Given the description of an element on the screen output the (x, y) to click on. 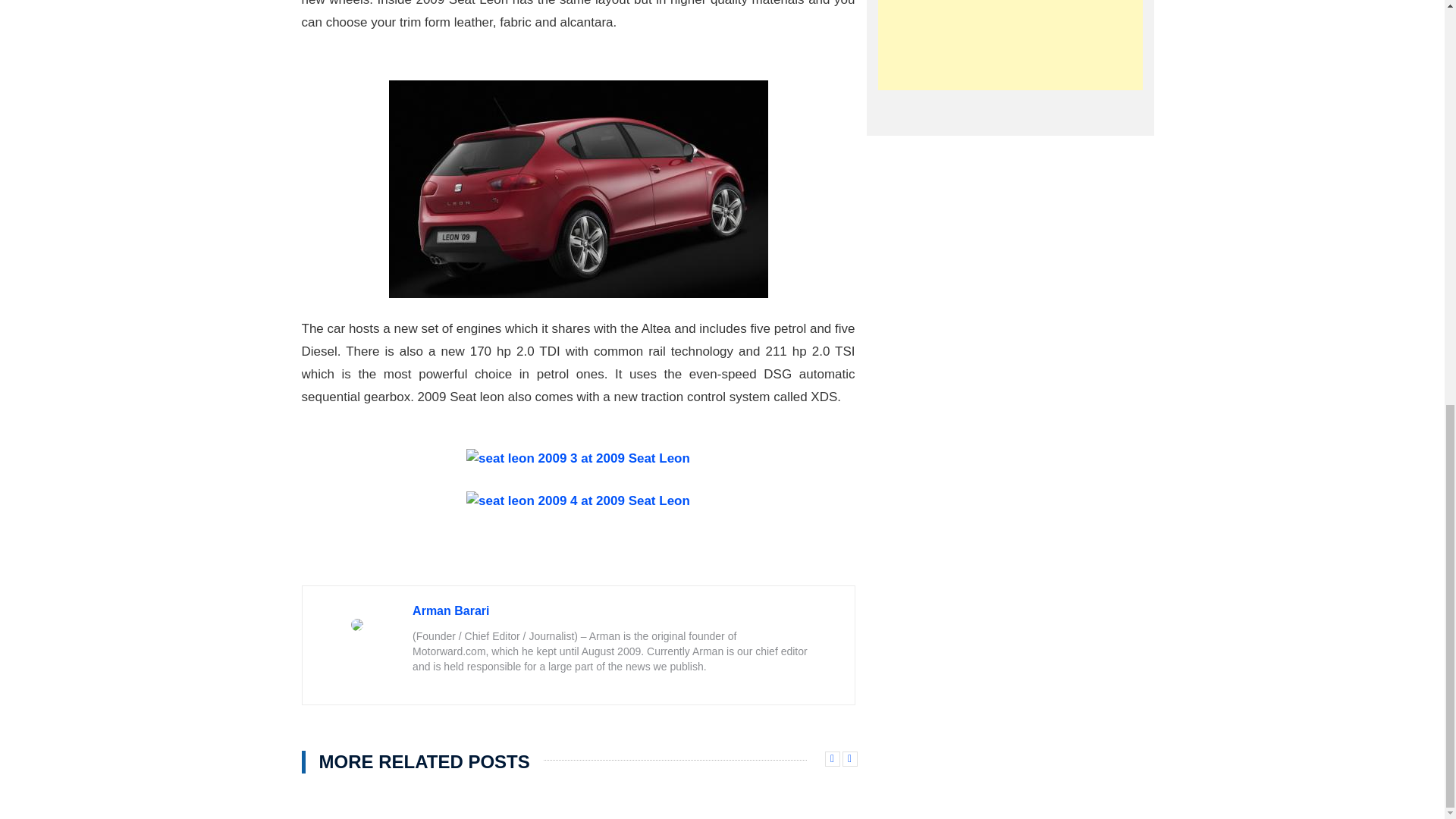
seat leon 2009 4 (577, 501)
seat leon 2009 2 (577, 189)
seat leon 2009 3 (577, 458)
Posts by Arman Barari (450, 610)
